Given the description of an element on the screen output the (x, y) to click on. 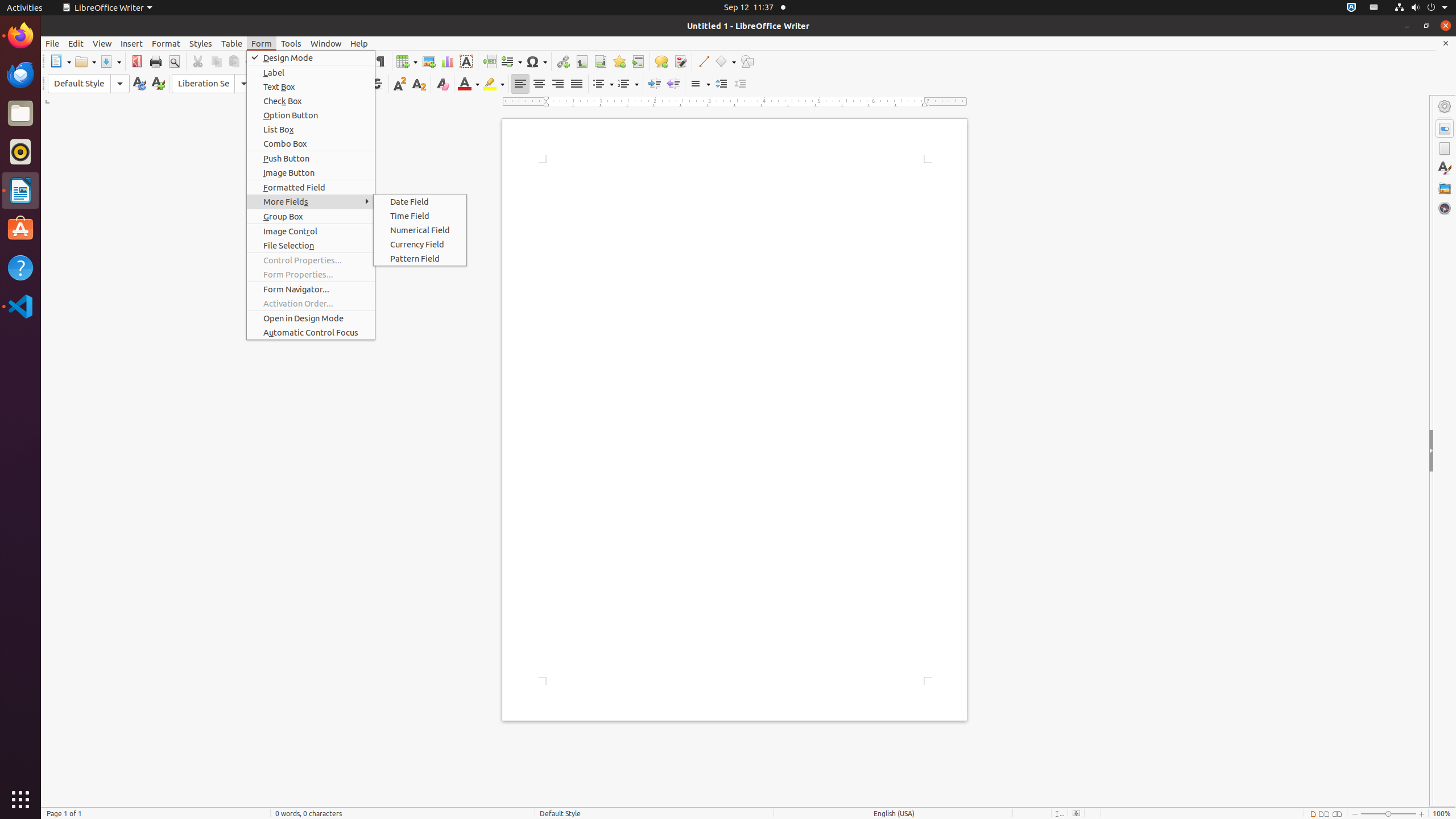
Field Element type: push-button (510, 61)
System Element type: menu (1420, 7)
Format Element type: menu (165, 43)
File Element type: menu (51, 43)
Update Element type: push-button (138, 83)
